Given the description of an element on the screen output the (x, y) to click on. 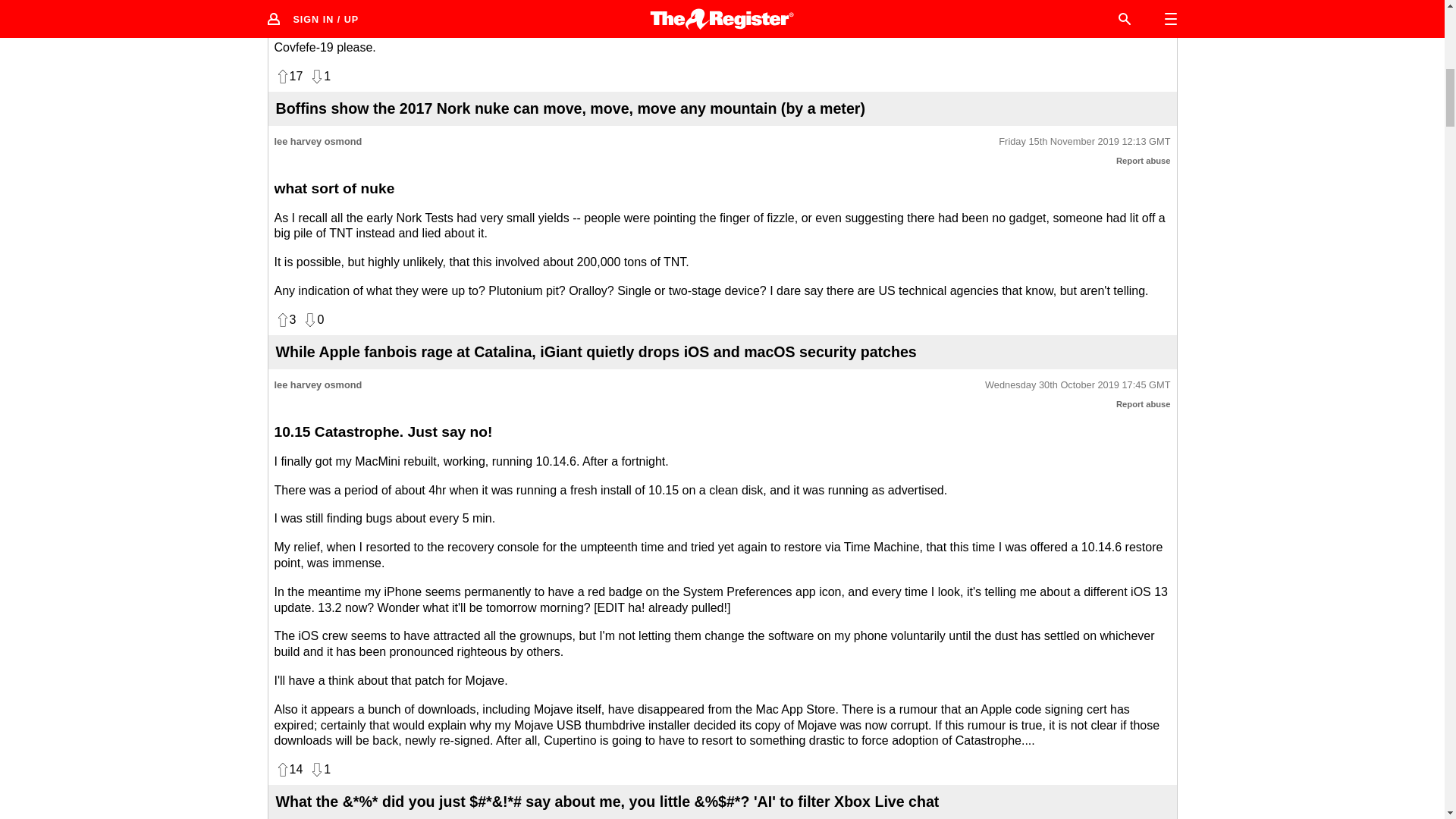
Dislike this post? Vote it down! (319, 76)
Like this post? Vote for it! (288, 76)
Report abuse (1143, 160)
Inappropriate post? Report it to our moderators (1143, 160)
Permalink to this post (1084, 141)
Report abuse (1143, 403)
